Given the description of an element on the screen output the (x, y) to click on. 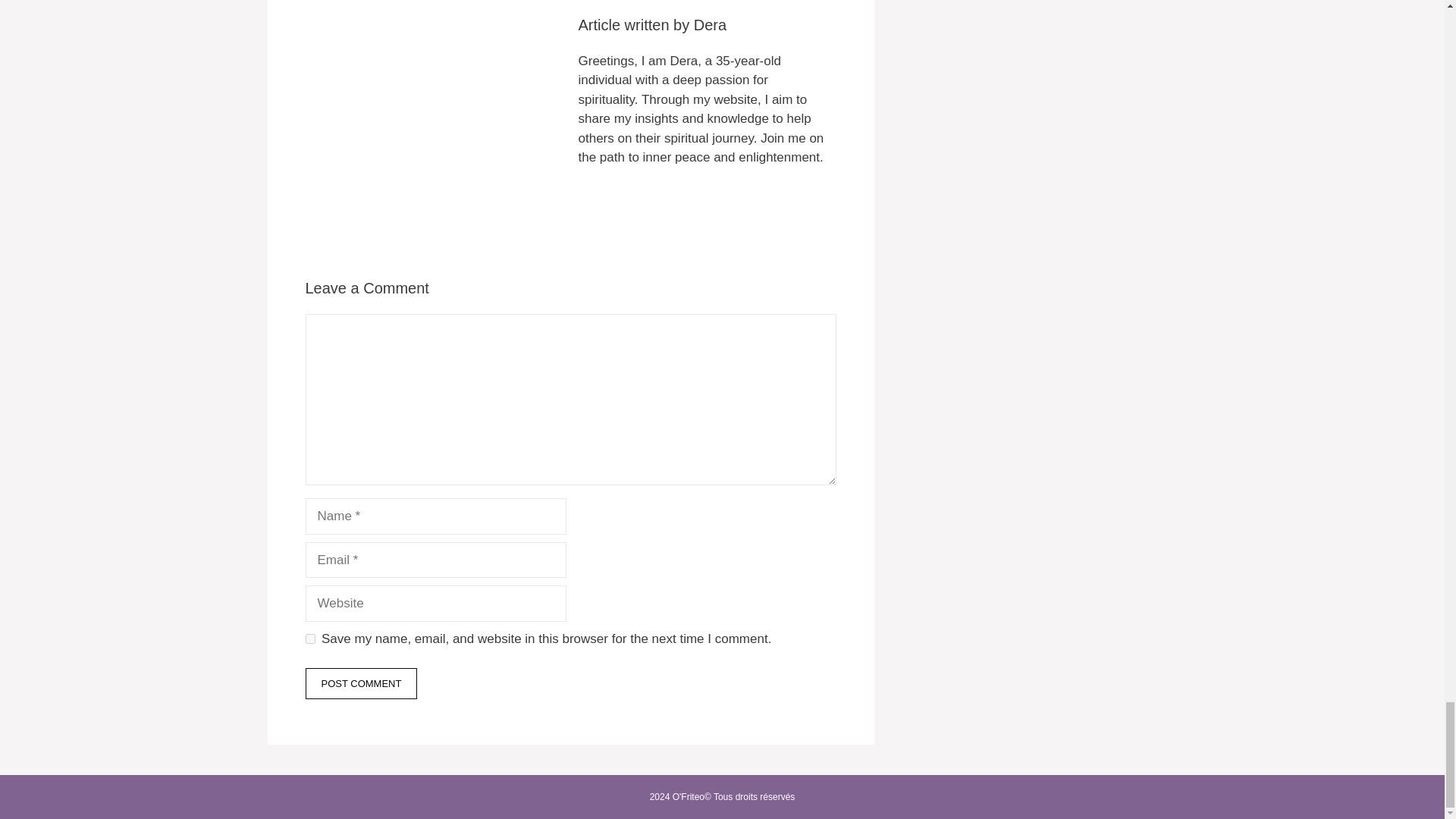
Post Comment (360, 684)
yes (309, 638)
